Given the description of an element on the screen output the (x, y) to click on. 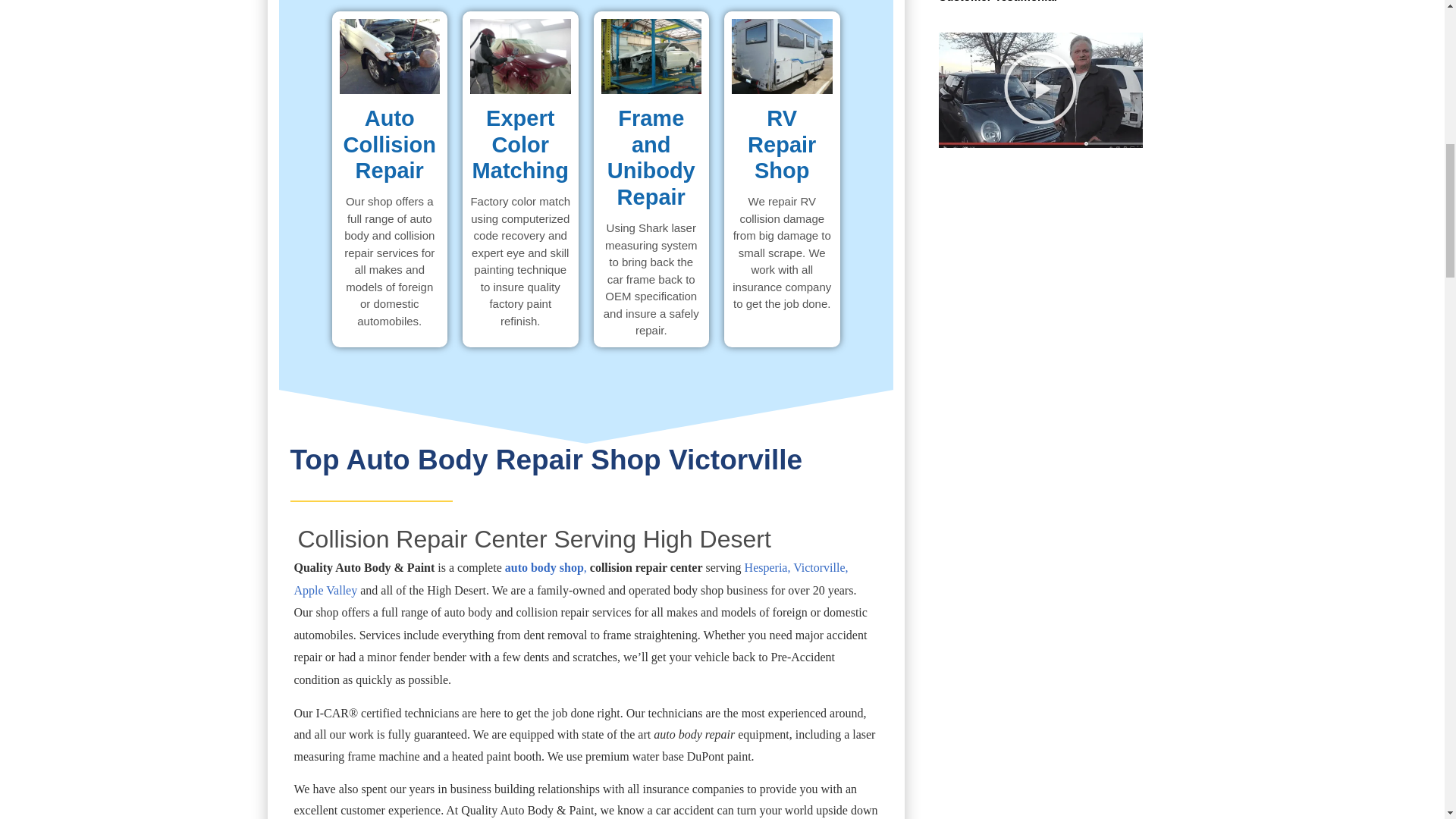
Apple Valley (326, 590)
auto body shop (544, 567)
Hesperia (765, 567)
Victorville (818, 567)
